Given the description of an element on the screen output the (x, y) to click on. 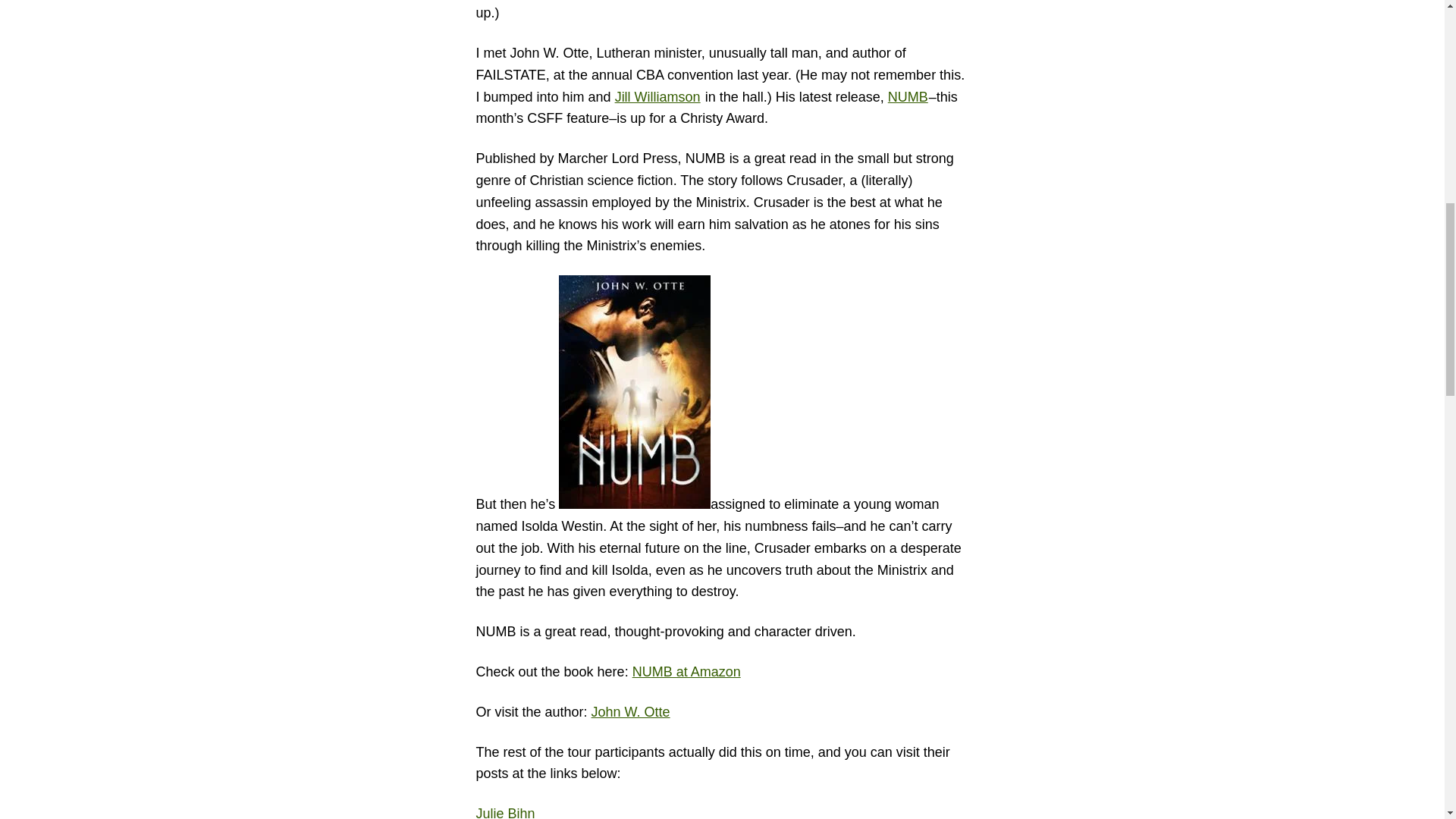
NUMB at Amazon (686, 671)
Jill Williamson (657, 96)
John W. Otte (630, 711)
Julie Bihn (505, 812)
NUMB (908, 96)
